Given the description of an element on the screen output the (x, y) to click on. 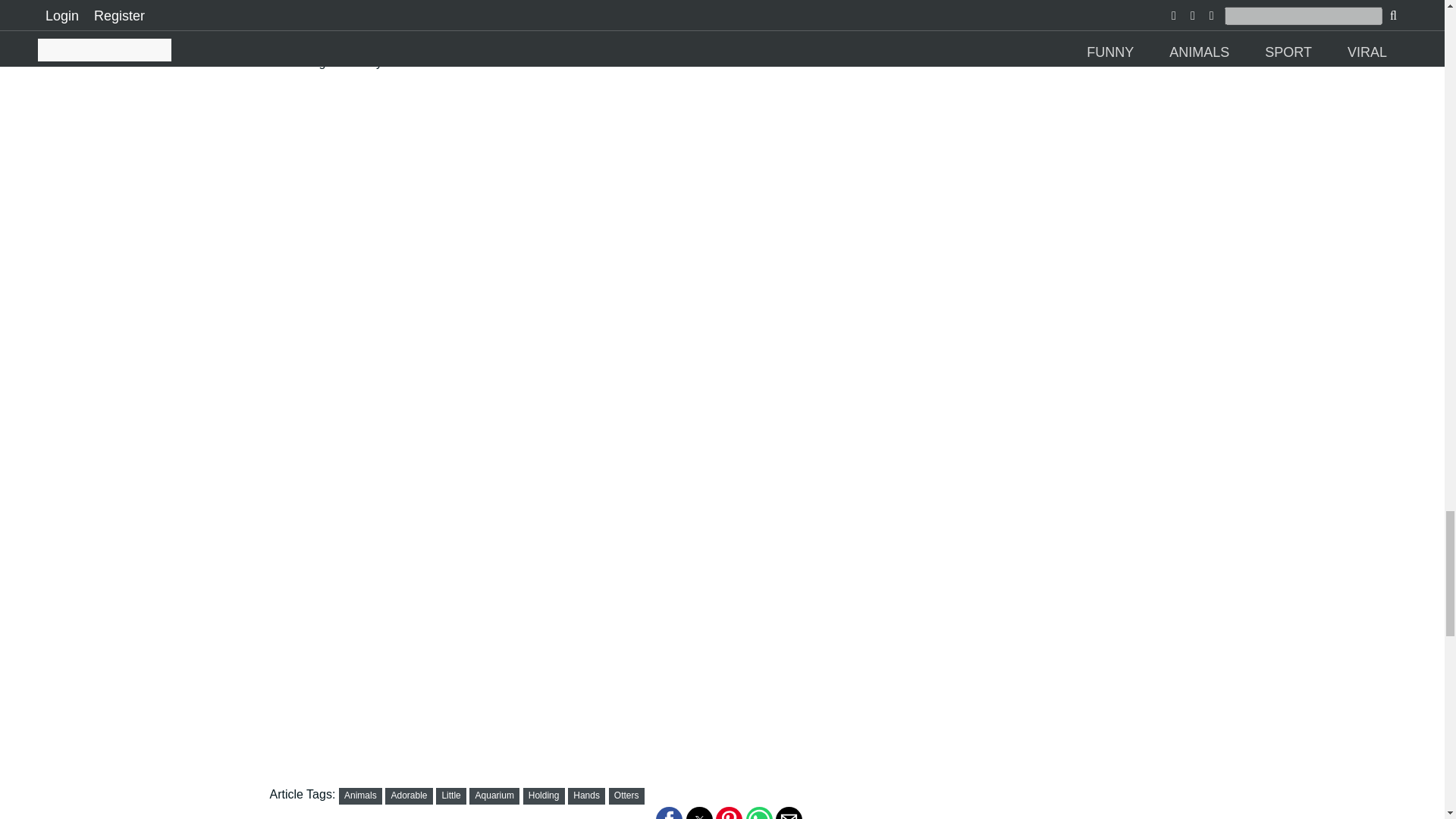
Holding (543, 795)
Animals (360, 795)
Little (450, 795)
Aquarium (494, 795)
Adorable (409, 795)
Hands (586, 795)
Otters (626, 795)
